Given the description of an element on the screen output the (x, y) to click on. 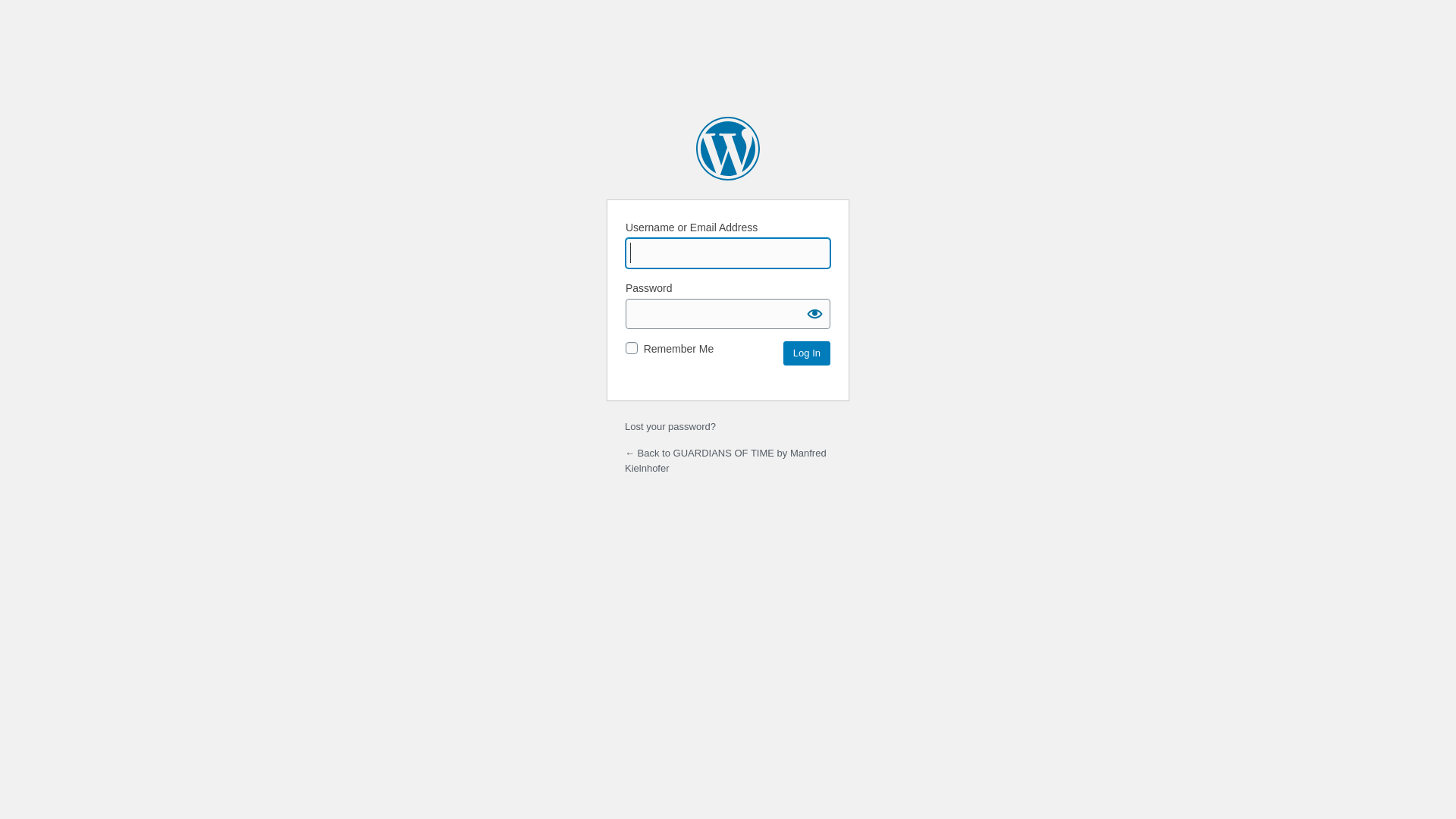
Powered by WordPress Element type: text (727, 148)
Lost your password? Element type: text (669, 426)
Log In Element type: text (806, 353)
